Given the description of an element on the screen output the (x, y) to click on. 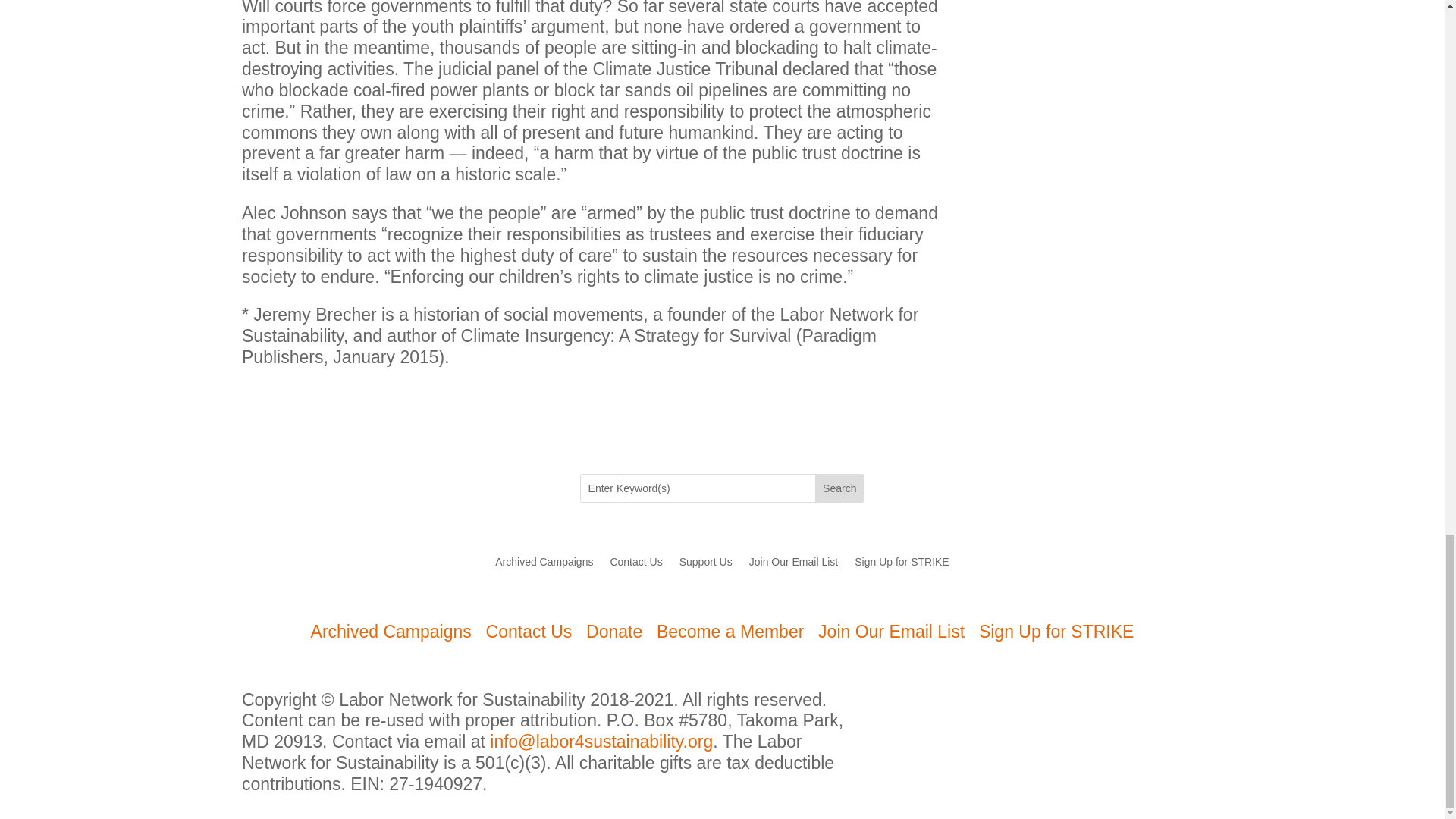
Follow on X (1129, 702)
Search (839, 488)
Follow on Facebook (1099, 702)
Search (839, 488)
Follow on Instagram (1160, 702)
